Given the description of an element on the screen output the (x, y) to click on. 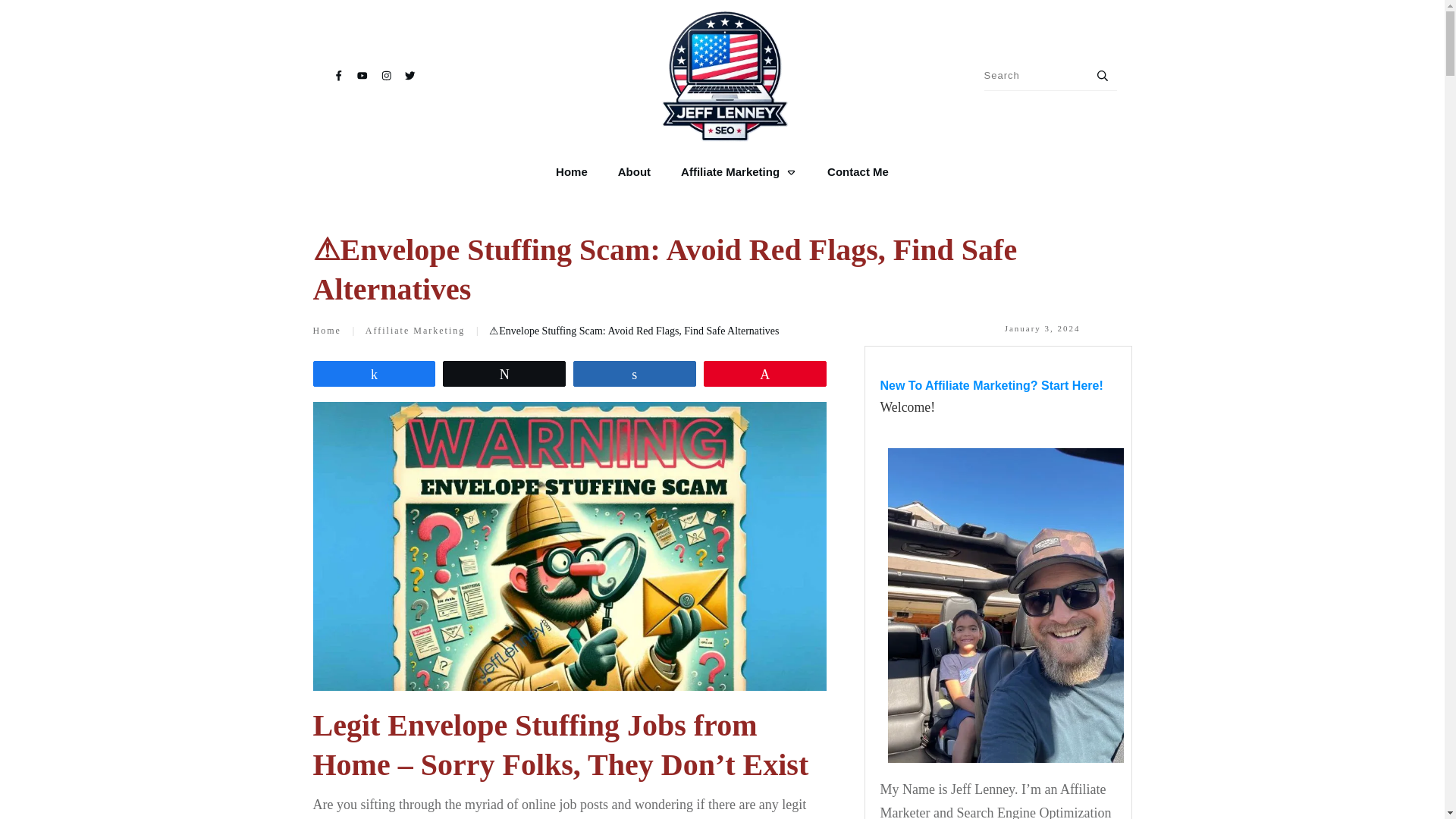
Home (326, 330)
Contact Me (857, 171)
Affiliate Marketing (738, 171)
Affiliate Marketing (414, 330)
About (633, 171)
Home (572, 171)
